Given the description of an element on the screen output the (x, y) to click on. 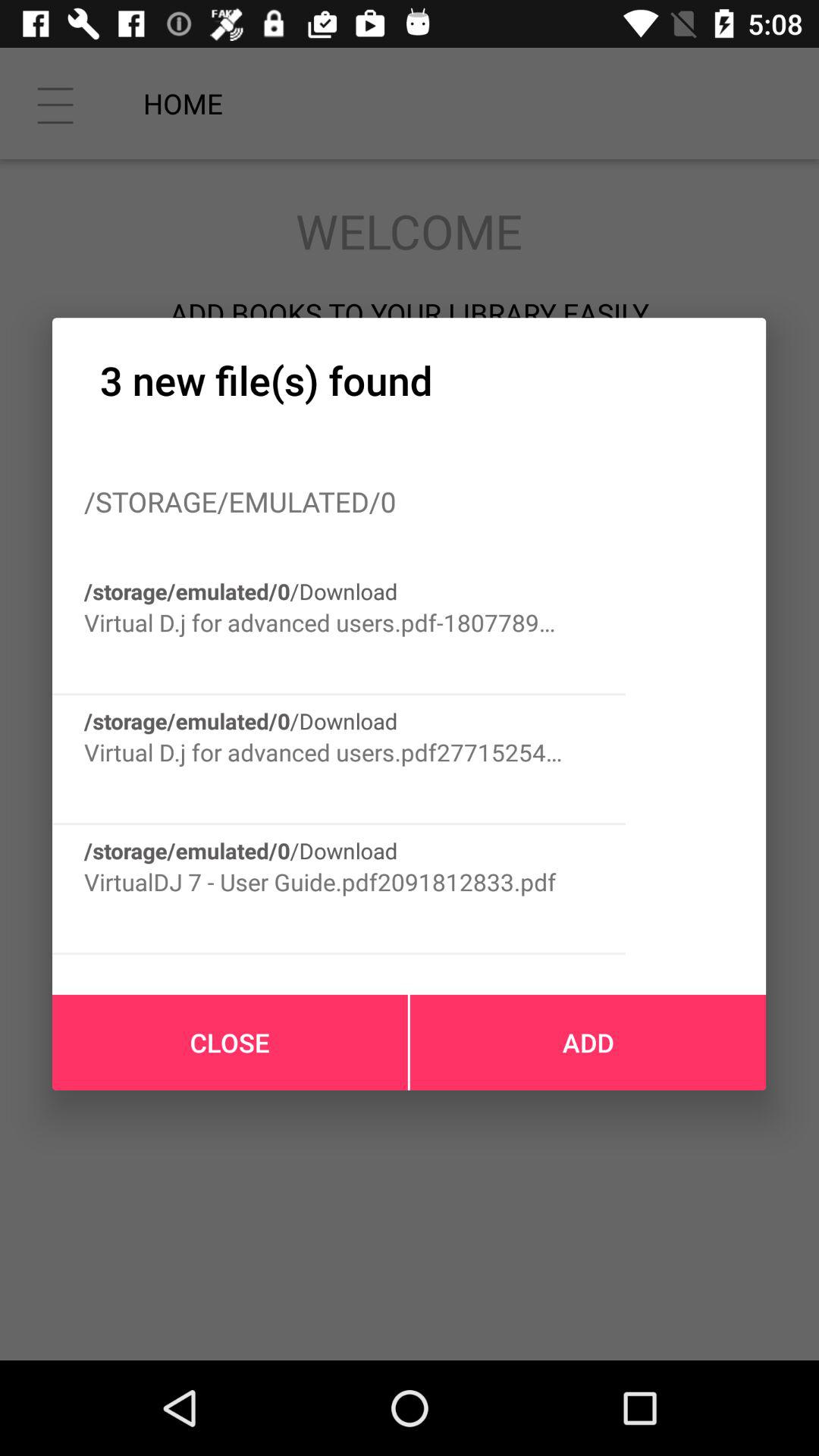
turn off the close icon (229, 1042)
